Given the description of an element on the screen output the (x, y) to click on. 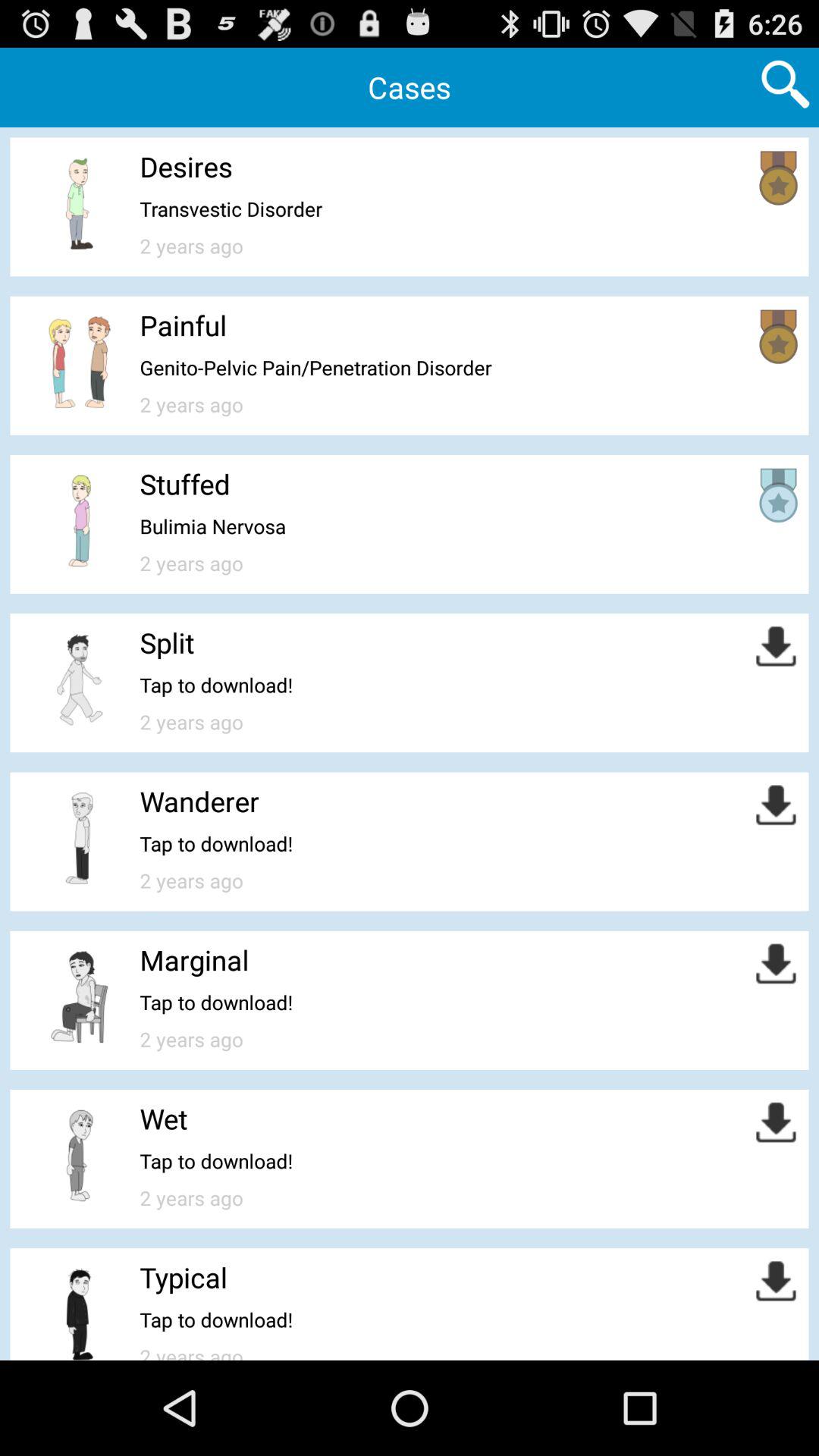
open app above the tap to download! (183, 1277)
